Given the description of an element on the screen output the (x, y) to click on. 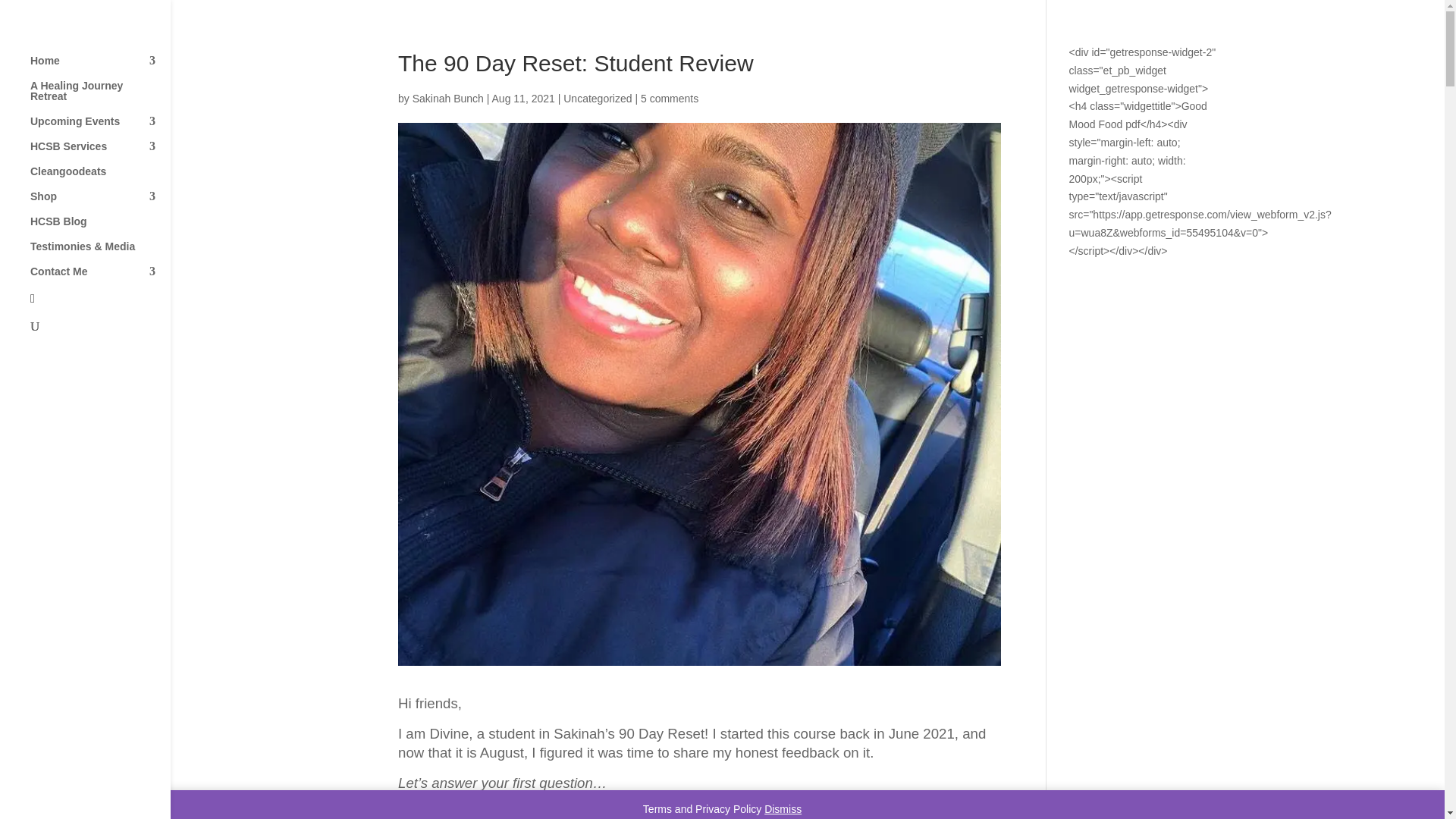
Cleangoodeats (100, 178)
Upcoming Events (100, 128)
Shop (100, 203)
HCSB Services (100, 153)
Posts by Sakinah Bunch (447, 98)
HCSB Blog (100, 228)
Contact Me (100, 278)
Home (100, 67)
A Healing Journey Retreat (100, 98)
